Given the description of an element on the screen output the (x, y) to click on. 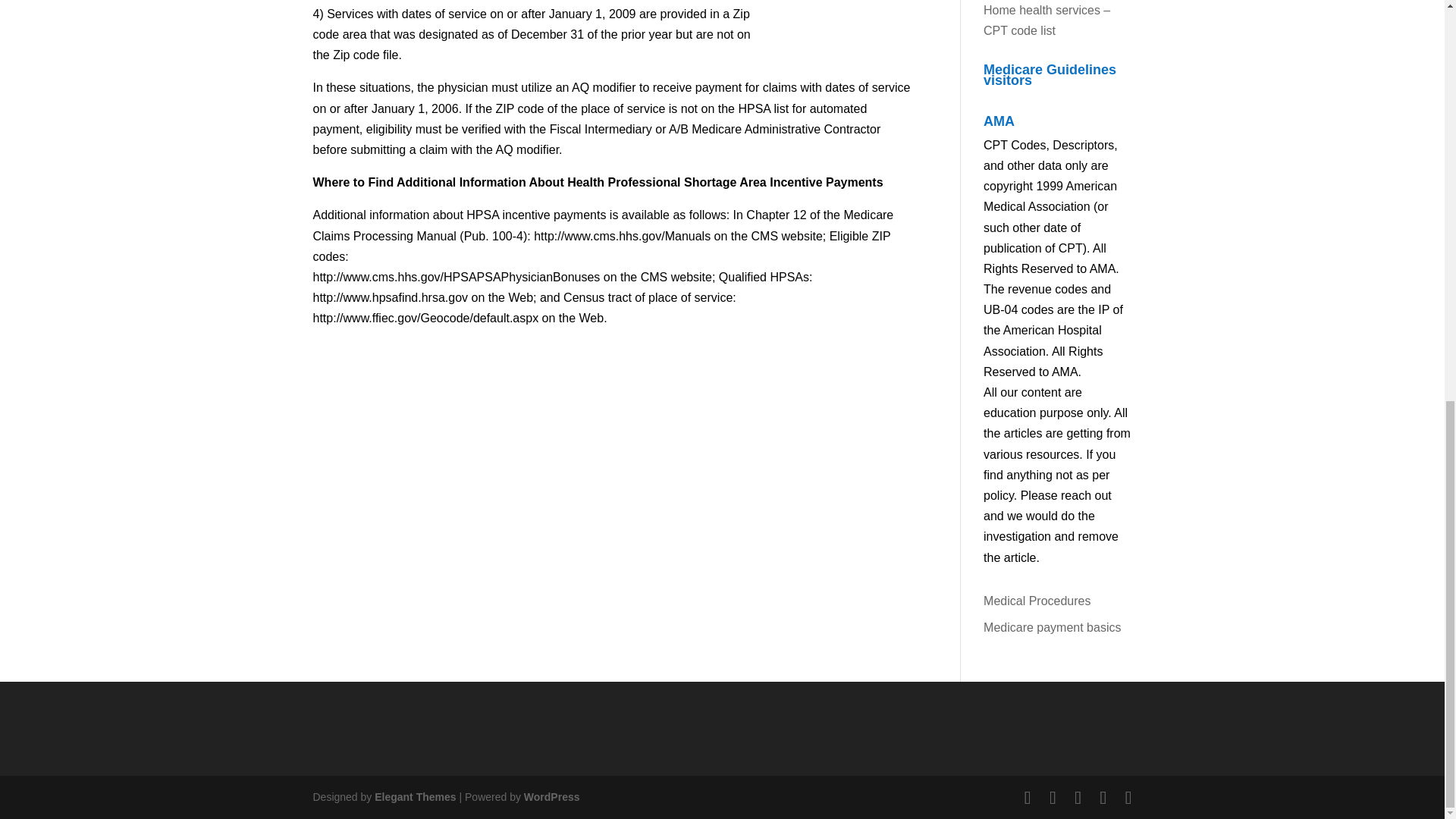
Medical Procedures (1037, 600)
Medicare payment basics (1052, 626)
Premium WordPress Themes (414, 797)
